Given the description of an element on the screen output the (x, y) to click on. 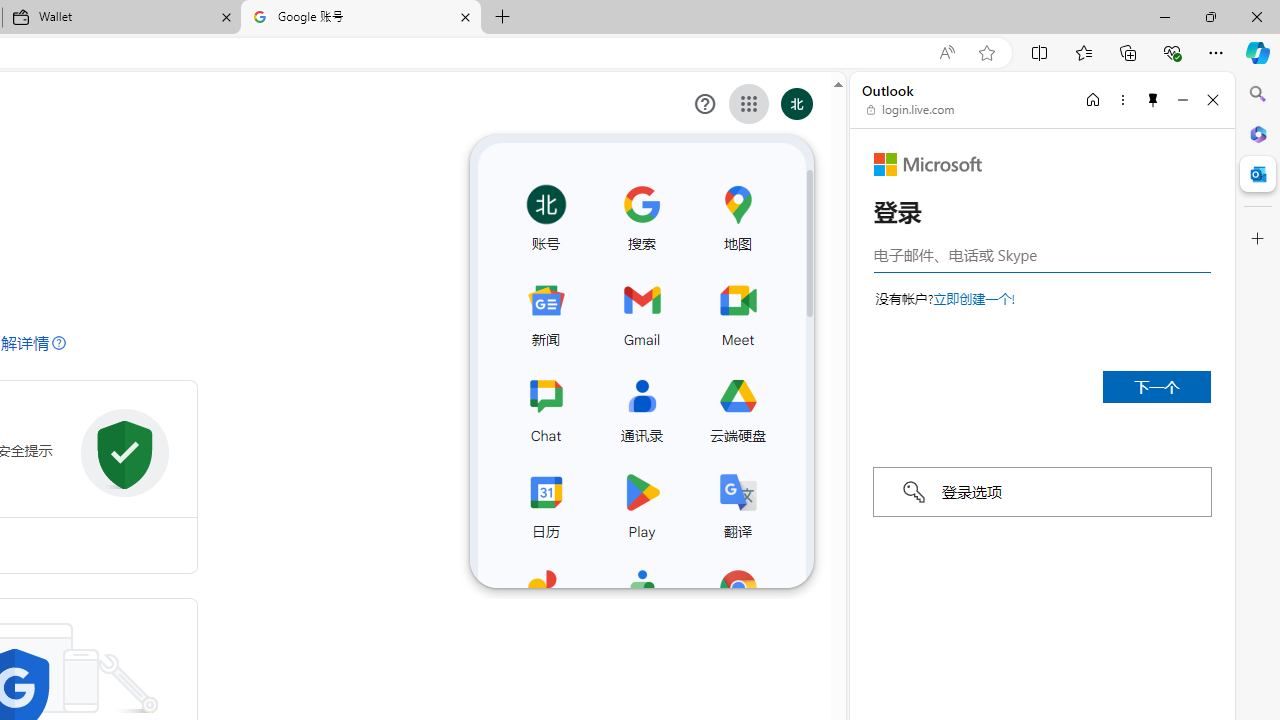
Gmail (641, 310)
Class: gb_E (749, 103)
